Given the description of an element on the screen output the (x, y) to click on. 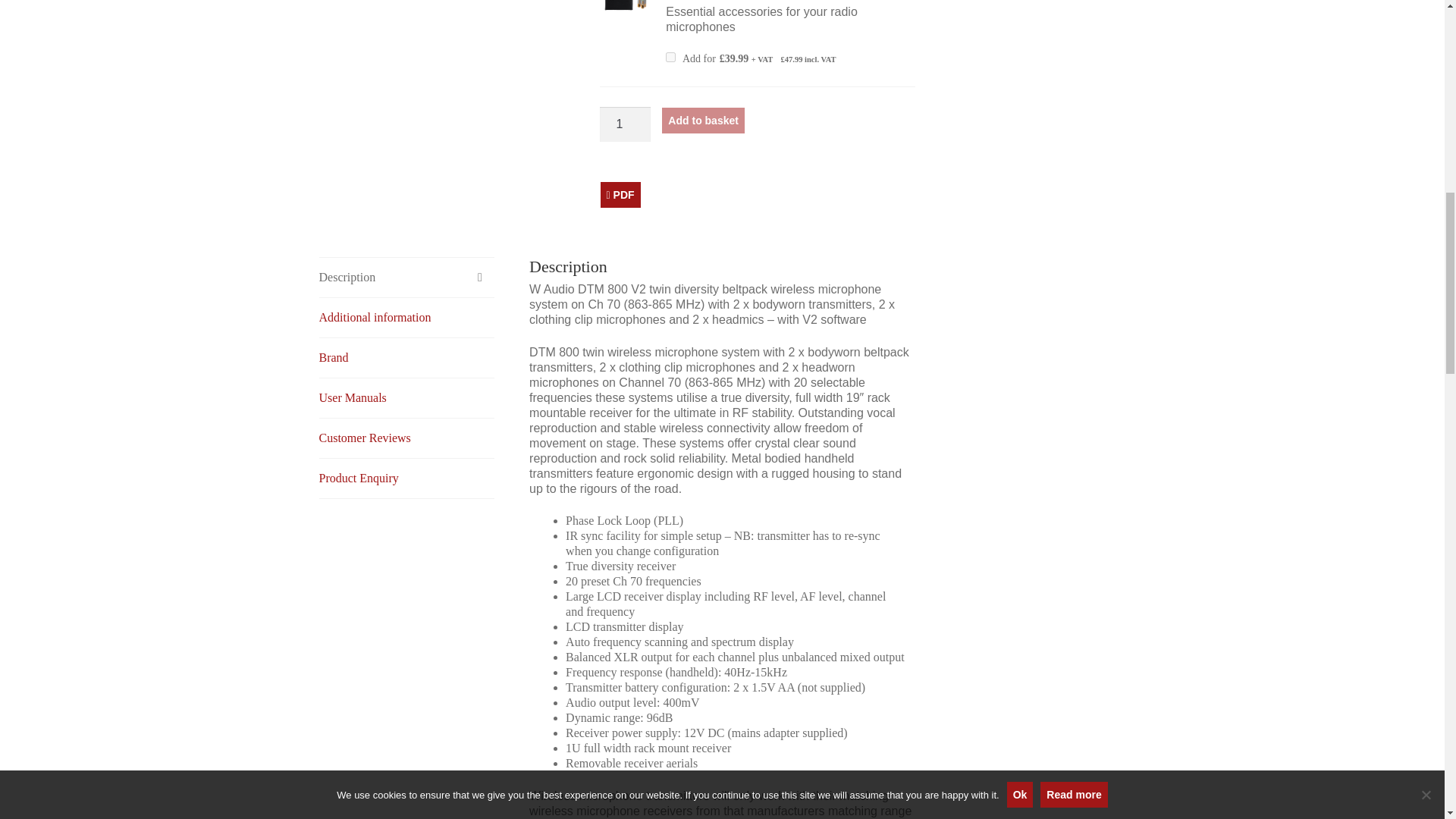
Beltpack Accessory Pack (624, 6)
1 (624, 124)
